Given the description of an element on the screen output the (x, y) to click on. 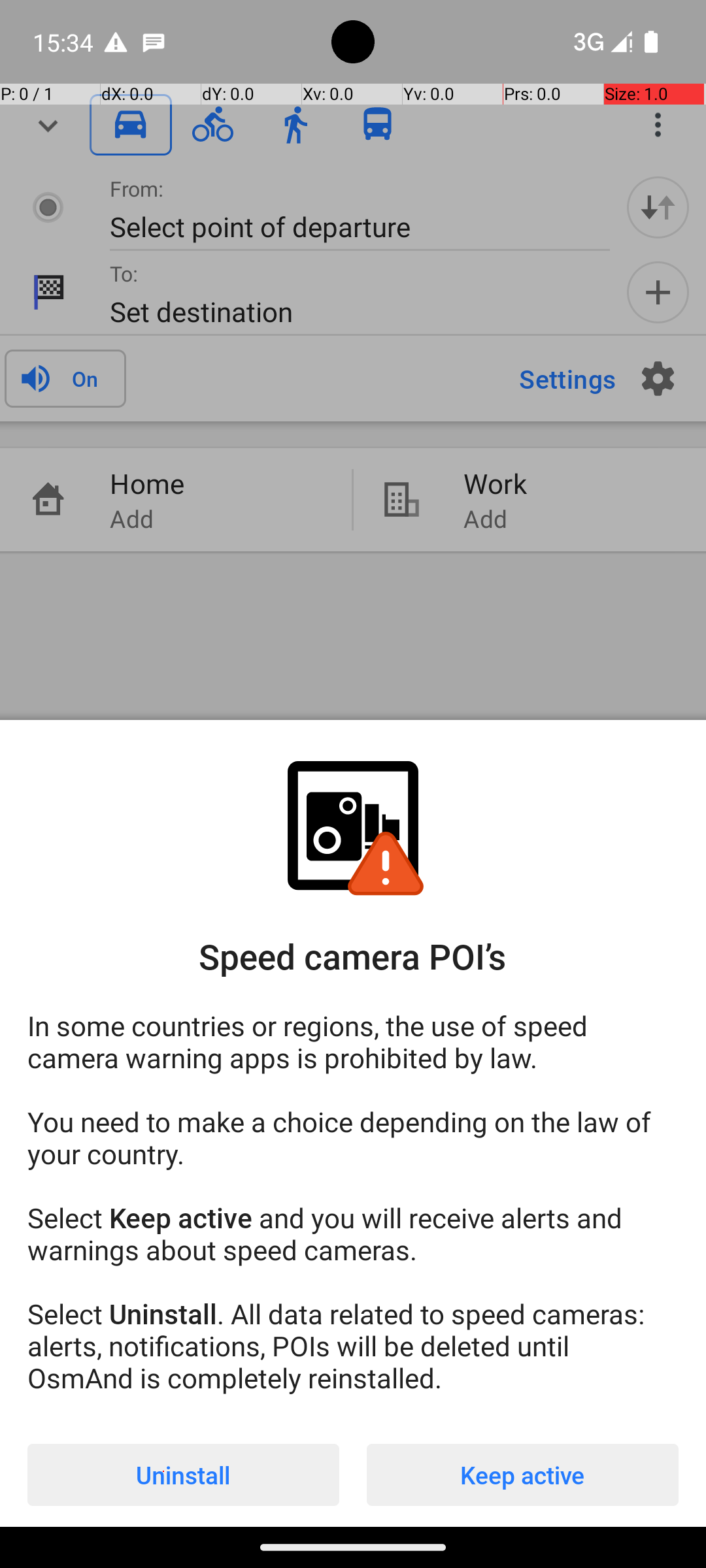
Close the dialog Element type: android.view.View (353, 388)
